Given the description of an element on the screen output the (x, y) to click on. 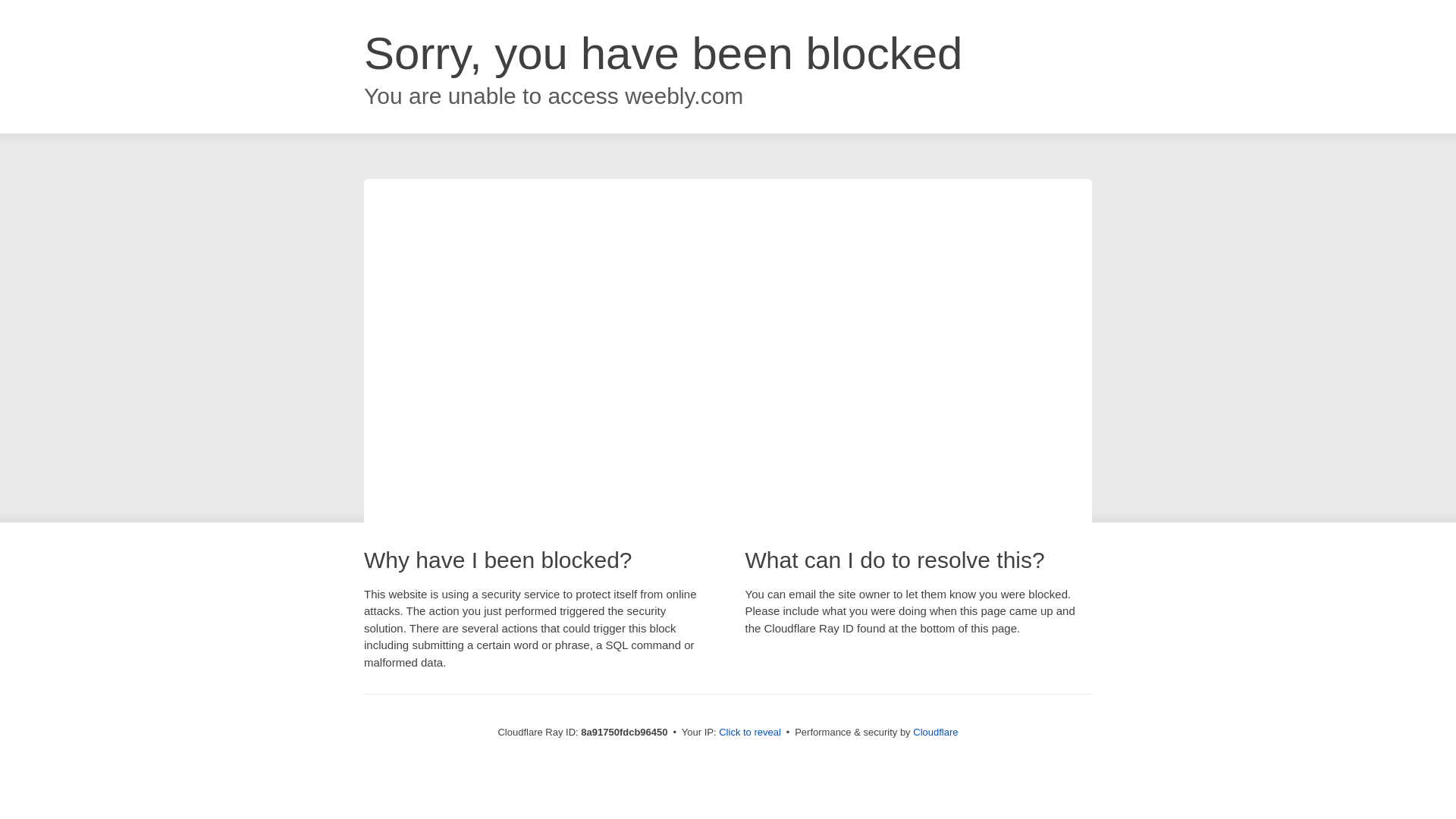
Cloudflare (935, 731)
Click to reveal (749, 732)
